Given the description of an element on the screen output the (x, y) to click on. 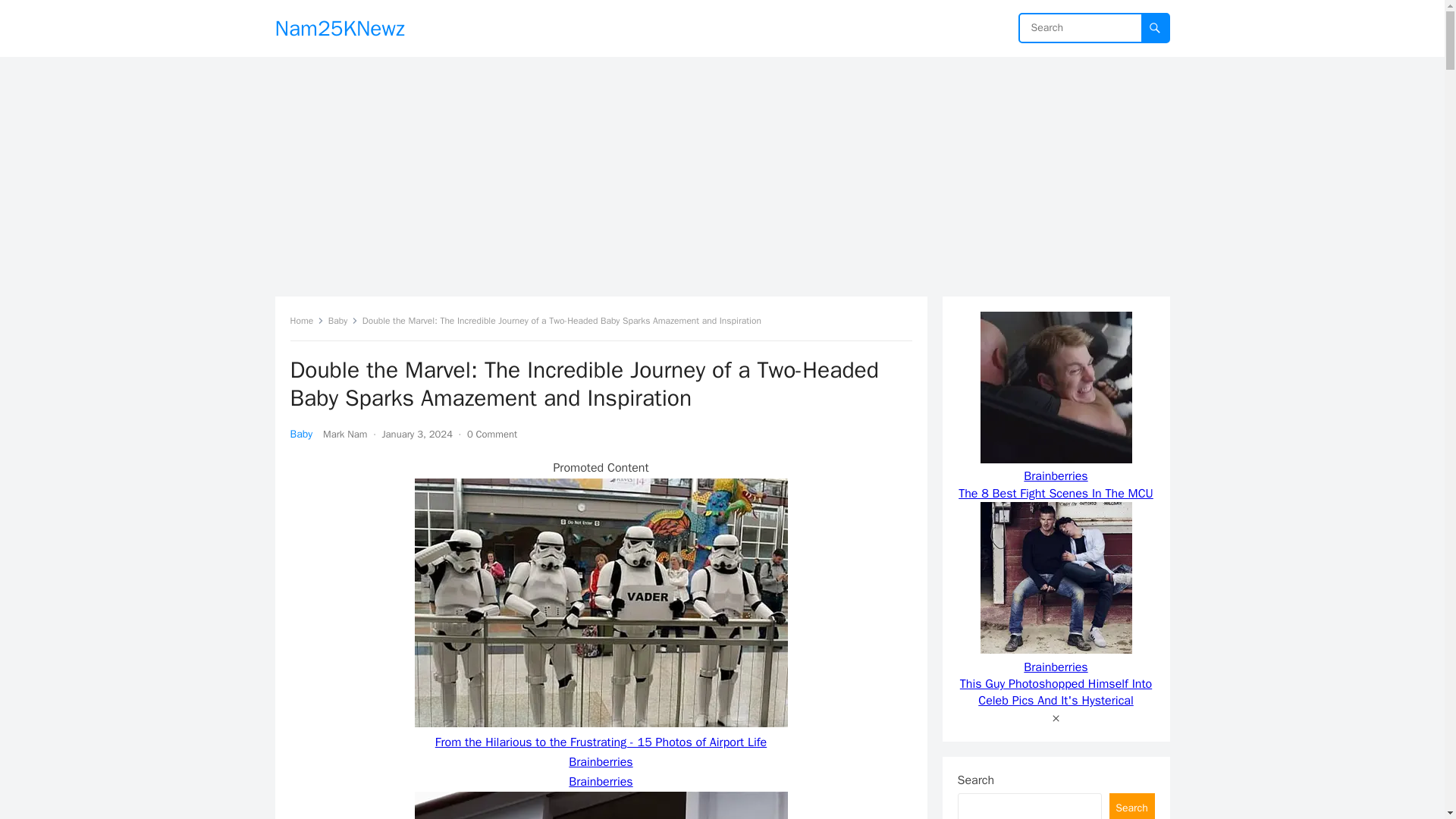
Posts by Mark Nam (344, 433)
Baby (343, 320)
Mark Nam (344, 433)
0 Comment (491, 433)
Nam25KNewz (339, 28)
Home (306, 320)
Baby (301, 433)
